Given the description of an element on the screen output the (x, y) to click on. 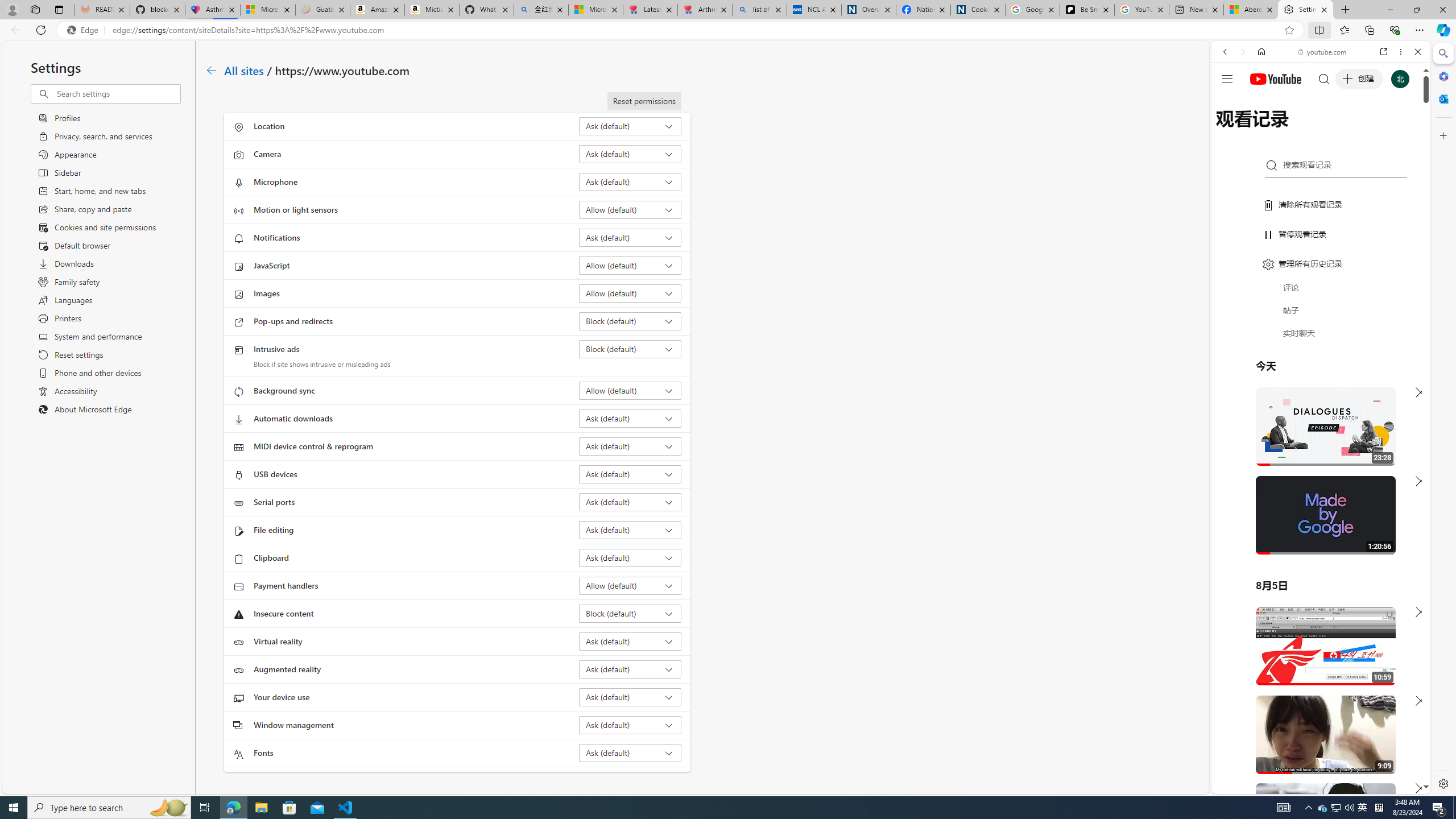
Images Allow (default) (630, 293)
list of asthma inhalers uk - Search (760, 9)
Go back to All sites page. (210, 70)
Global web icon (1232, 655)
MIDI device control & reprogram Ask (default) (630, 446)
